Given the description of an element on the screen output the (x, y) to click on. 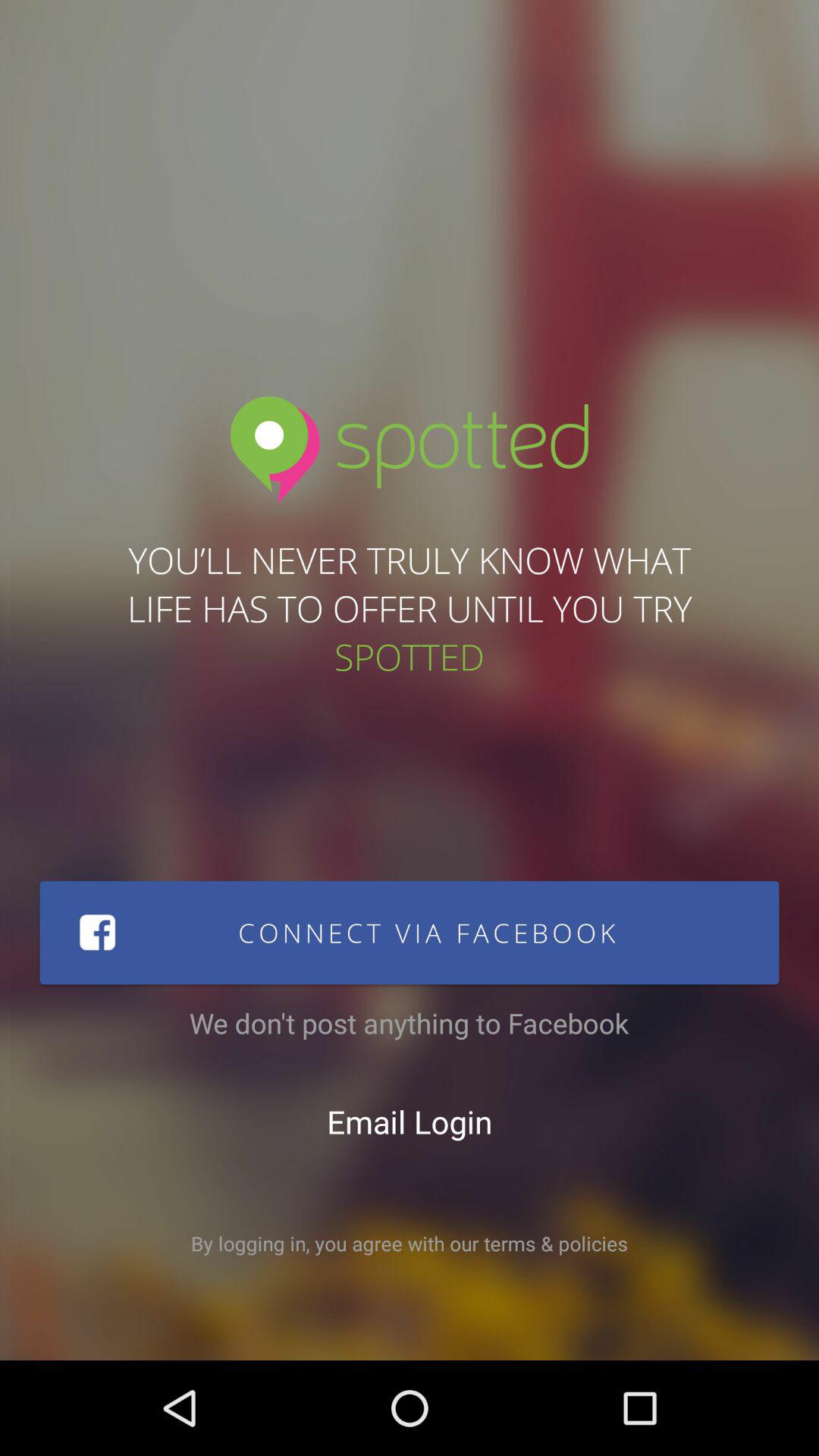
turn on the by logging in icon (409, 1243)
